Given the description of an element on the screen output the (x, y) to click on. 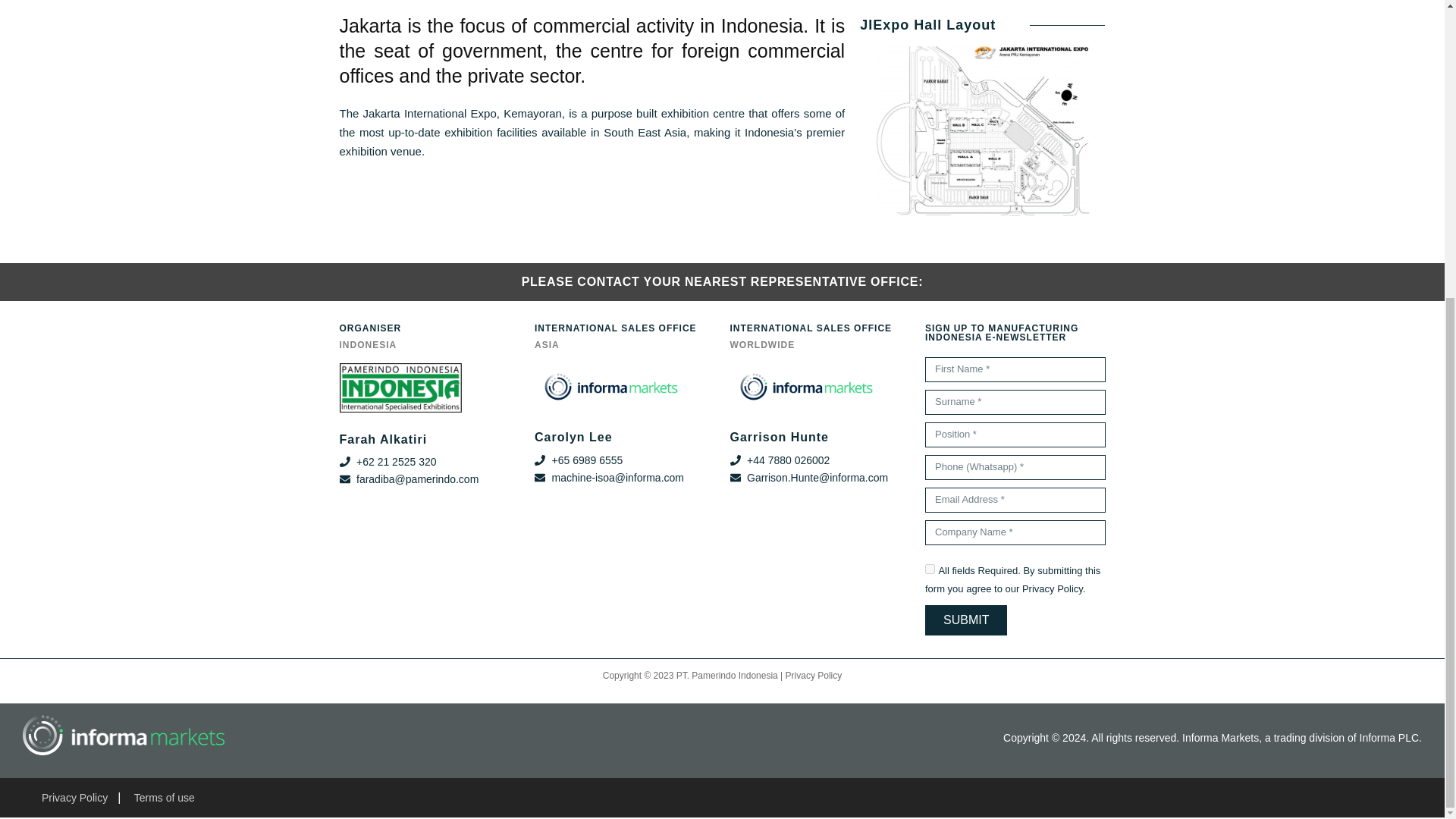
on (929, 569)
Privacy Policy (814, 675)
PT. Pamerindo Indonesia (727, 675)
